Given the description of an element on the screen output the (x, y) to click on. 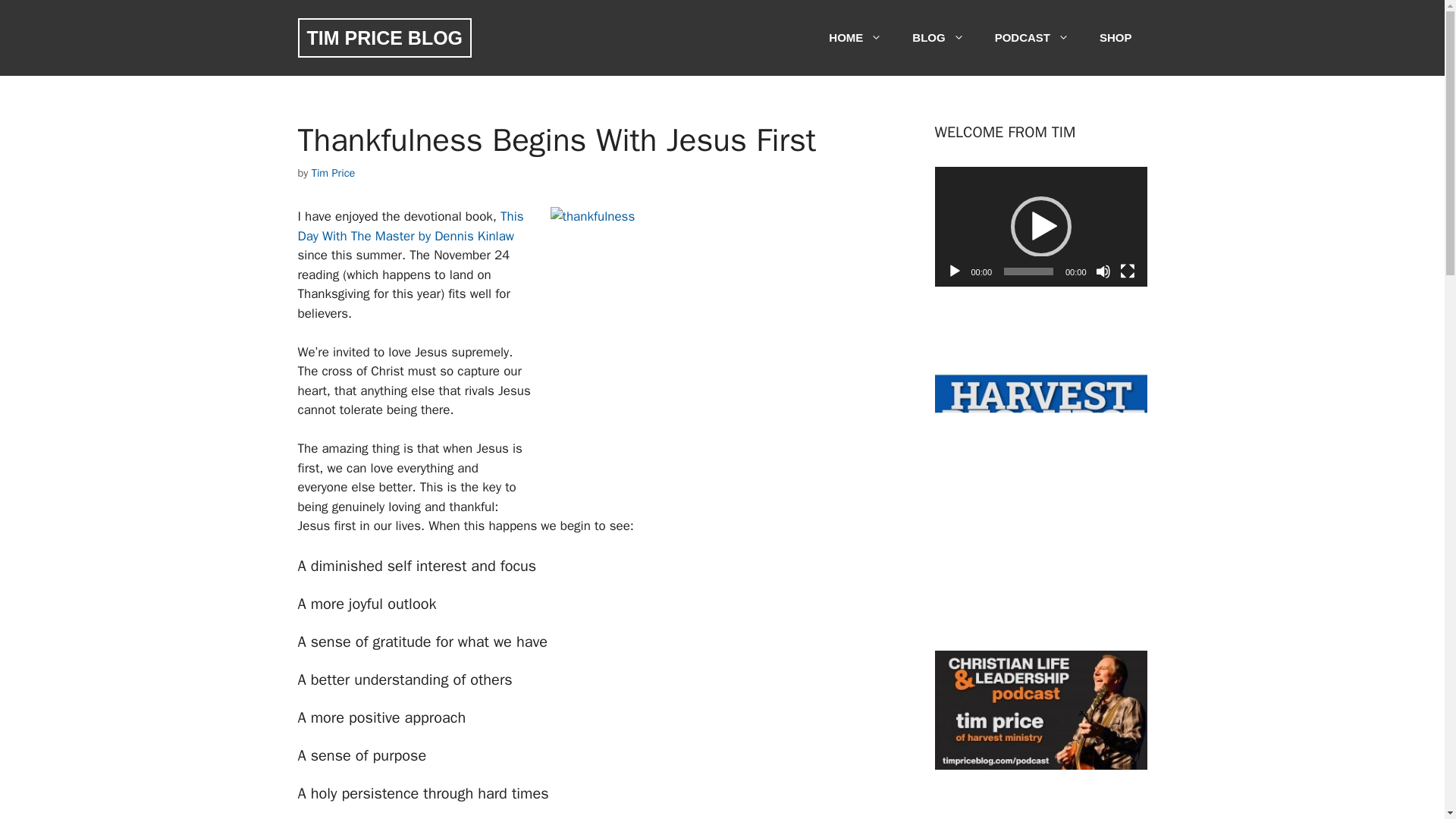
HOME (854, 37)
Play (953, 271)
Fullscreen (1126, 271)
TIM PRICE BLOG (384, 37)
Tim Price (333, 172)
PODCAST (1031, 37)
Mute (1101, 271)
This Day With The Master by Dennis Kinlaw (409, 226)
SHOP (1115, 37)
BLOG (937, 37)
